Given the description of an element on the screen output the (x, y) to click on. 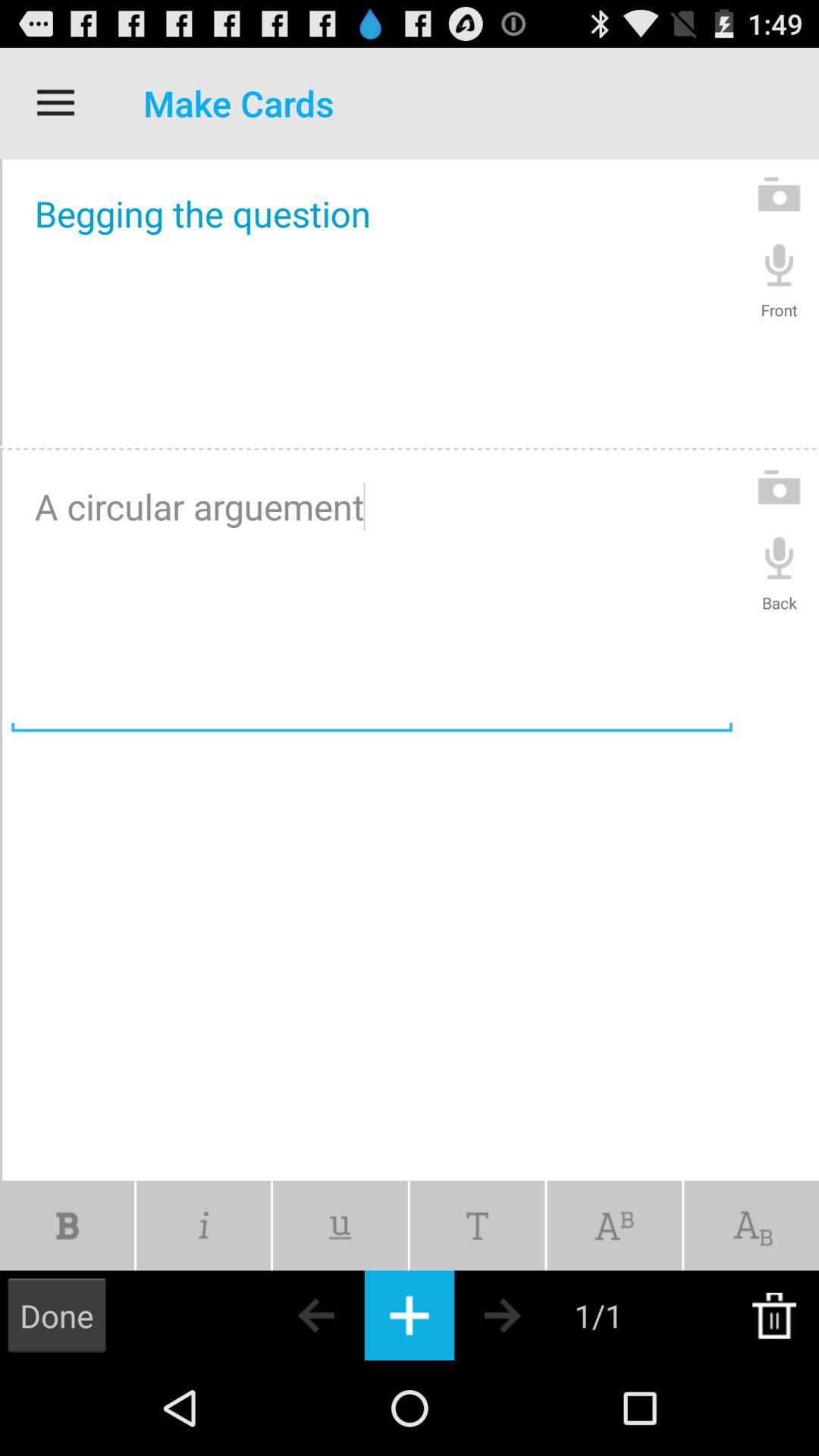
go to the next card (529, 1315)
